Given the description of an element on the screen output the (x, y) to click on. 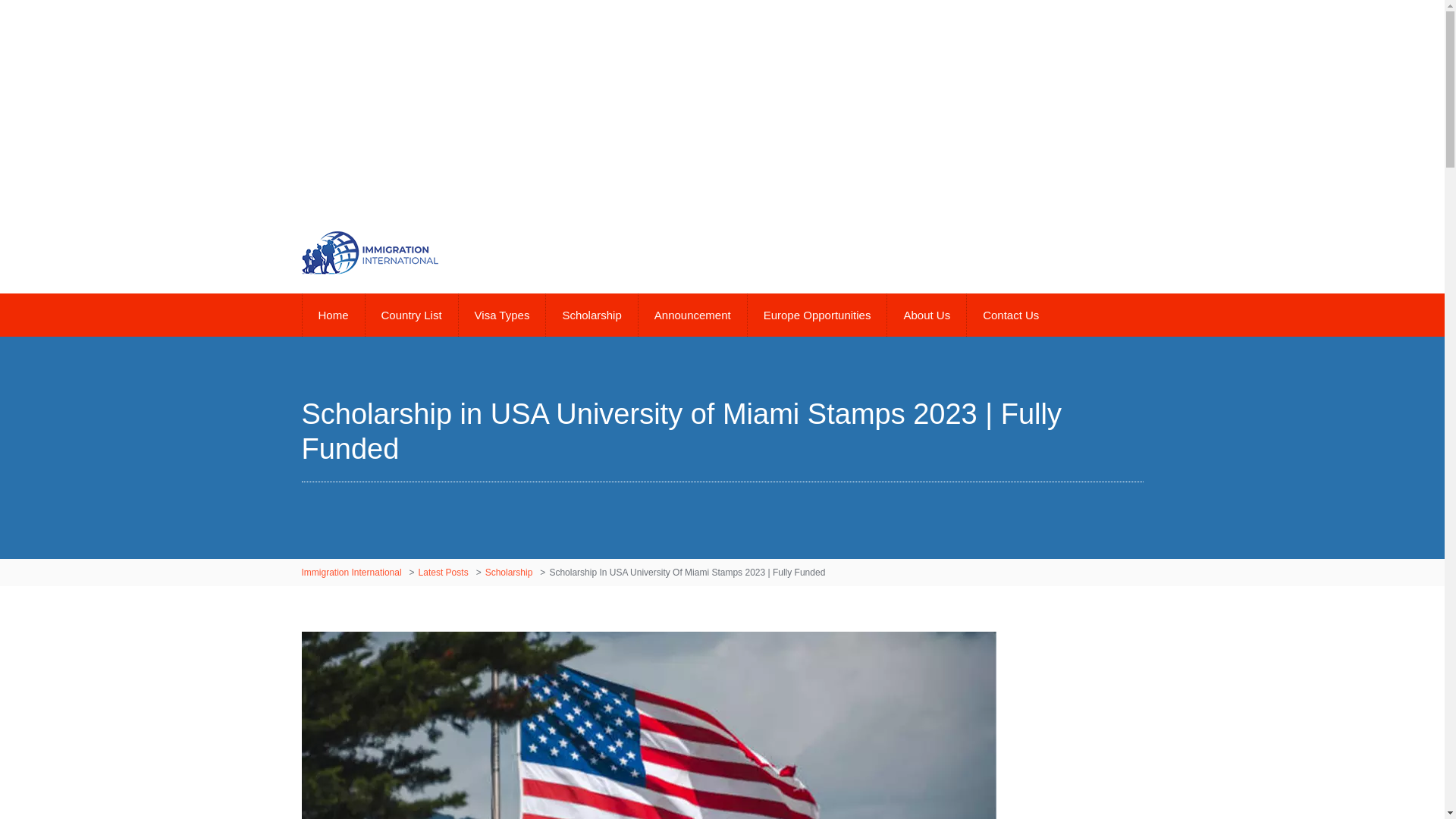
Go to Latest Posts. (445, 572)
Country List (411, 314)
Europe Opportunities (816, 314)
Immigration International (353, 572)
About Us (926, 314)
Go to the Scholarship Category archives. (510, 572)
Contact Us (1010, 314)
Visa Types (502, 314)
Go to Immigration International. (353, 572)
Scholarship (590, 314)
Scholarship (510, 572)
Home (333, 314)
Latest Posts (445, 572)
Announcement (691, 314)
